Given the description of an element on the screen output the (x, y) to click on. 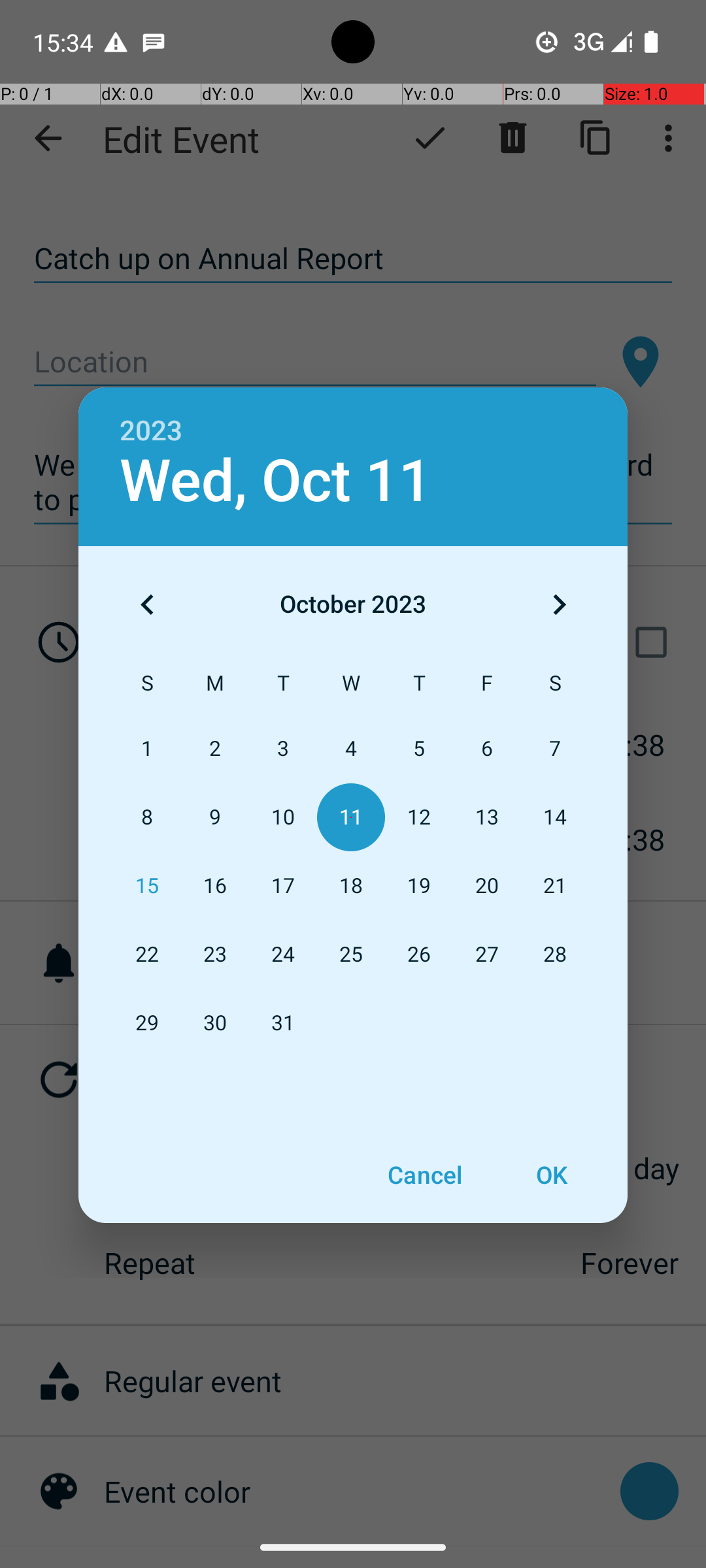
Wed, Oct 11 Element type: android.widget.TextView (275, 480)
